Given the description of an element on the screen output the (x, y) to click on. 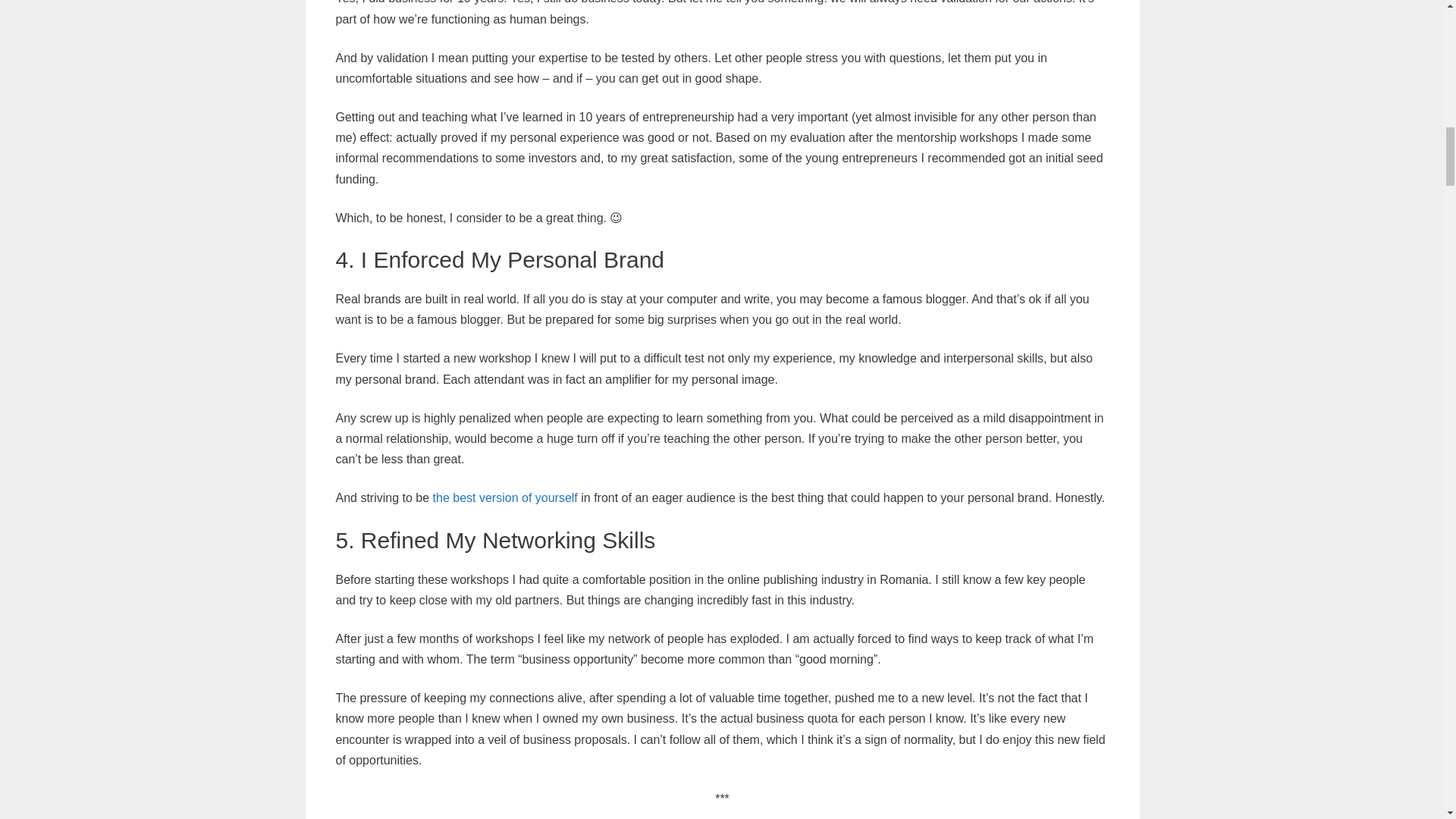
the best version of yourself (505, 497)
the best version of yourself (505, 497)
